Given the description of an element on the screen output the (x, y) to click on. 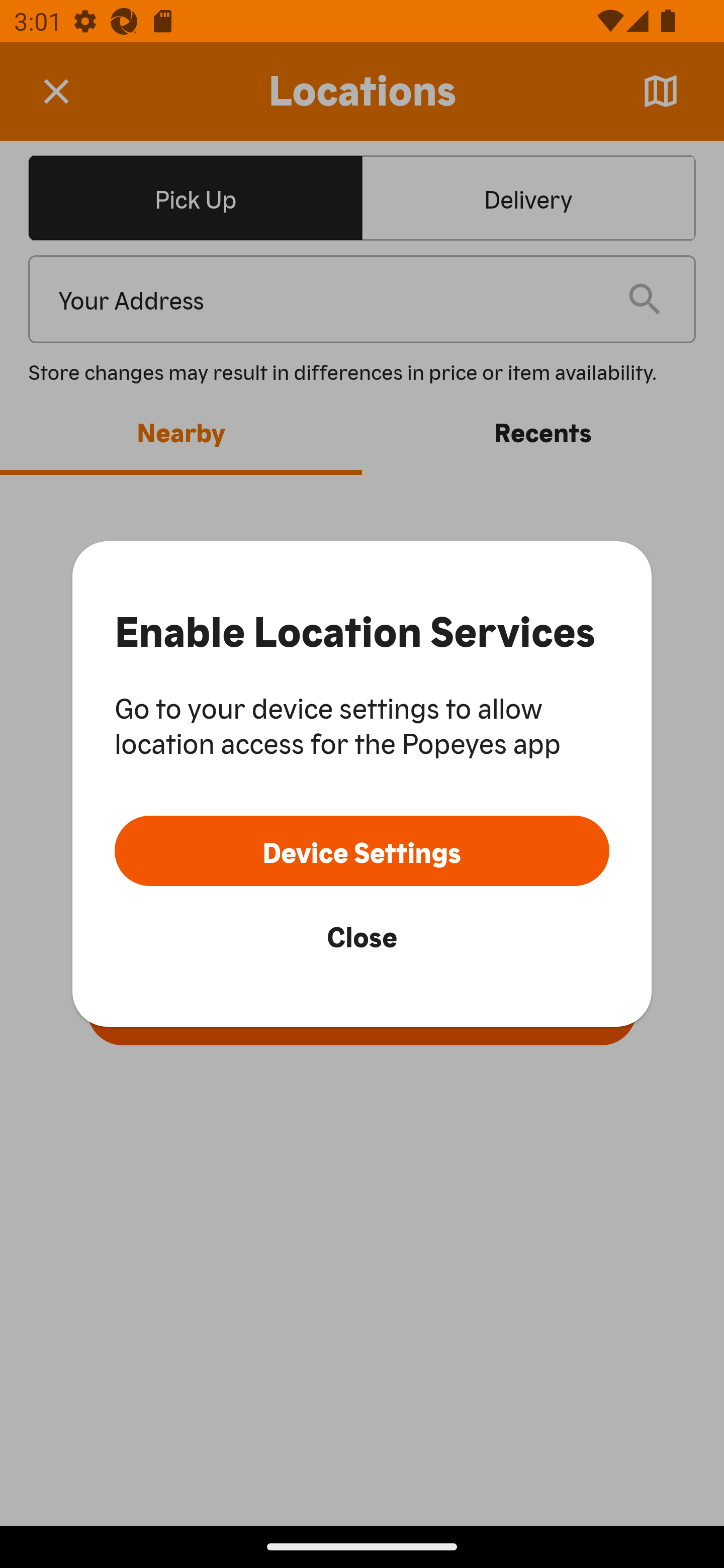
Device Settings (361, 850)
Close (361, 935)
